Given the description of an element on the screen output the (x, y) to click on. 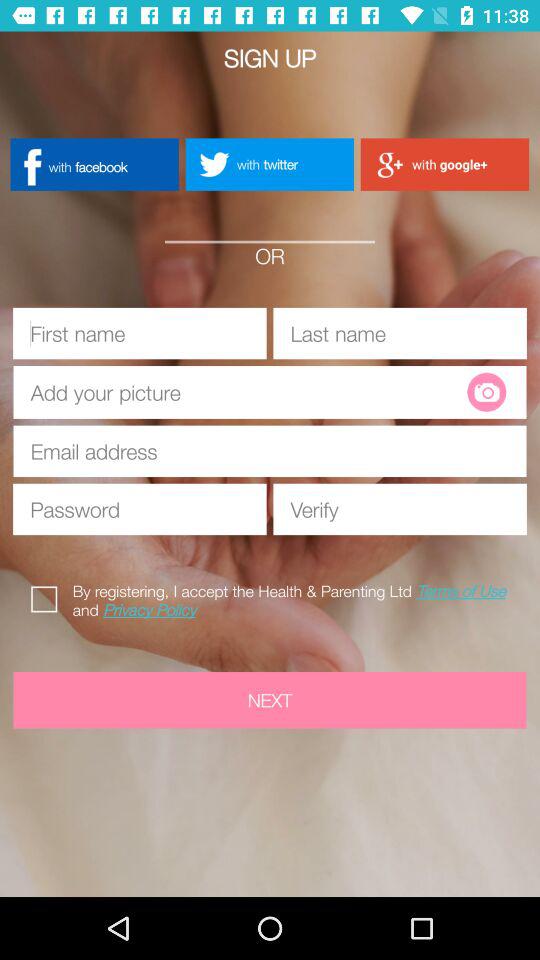
launch with google+ (444, 164)
